Given the description of an element on the screen output the (x, y) to click on. 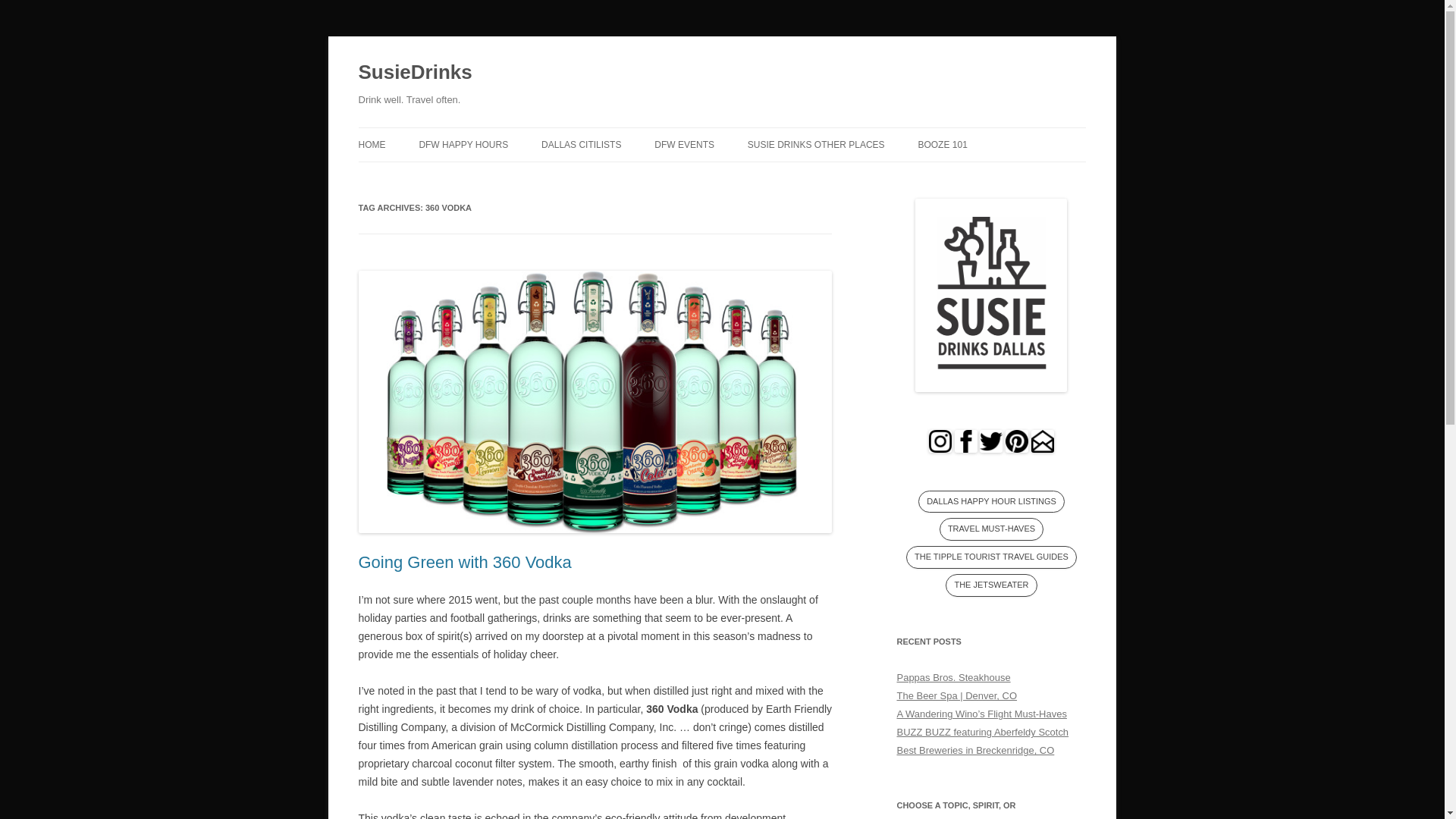
DFW HAPPY HOURS (463, 144)
DFW EVENTS (683, 144)
MONDAY (494, 176)
SUSIE DRINKS OTHER PLACES (816, 144)
DALLAS CITILISTS (581, 144)
ALBUQUERQUE, NEW MEXICO (823, 176)
SusieDrinks (414, 72)
